Given the description of an element on the screen output the (x, y) to click on. 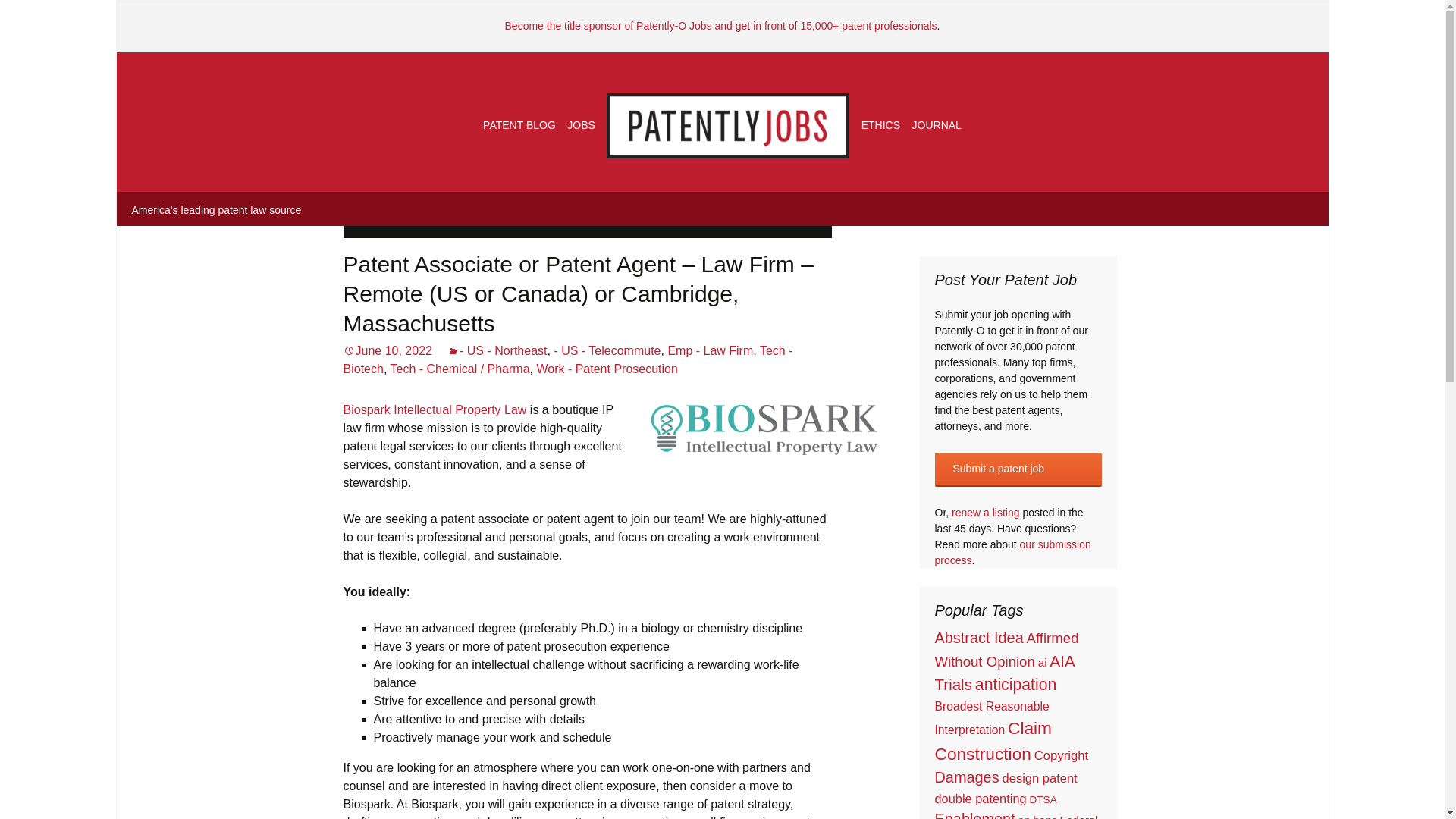
Patent law ethics by Hricik from Patently-O (880, 124)
our submission process (1012, 552)
Submit a patent job (1017, 469)
JOURNAL (936, 124)
Work - Patent Prosecution (606, 368)
Emp - Law Firm (709, 350)
Search (37, 15)
- US - Northeast (496, 350)
June 10, 2022 (386, 350)
Patent law and IP law jobs from Patently-O (581, 124)
